Given the description of an element on the screen output the (x, y) to click on. 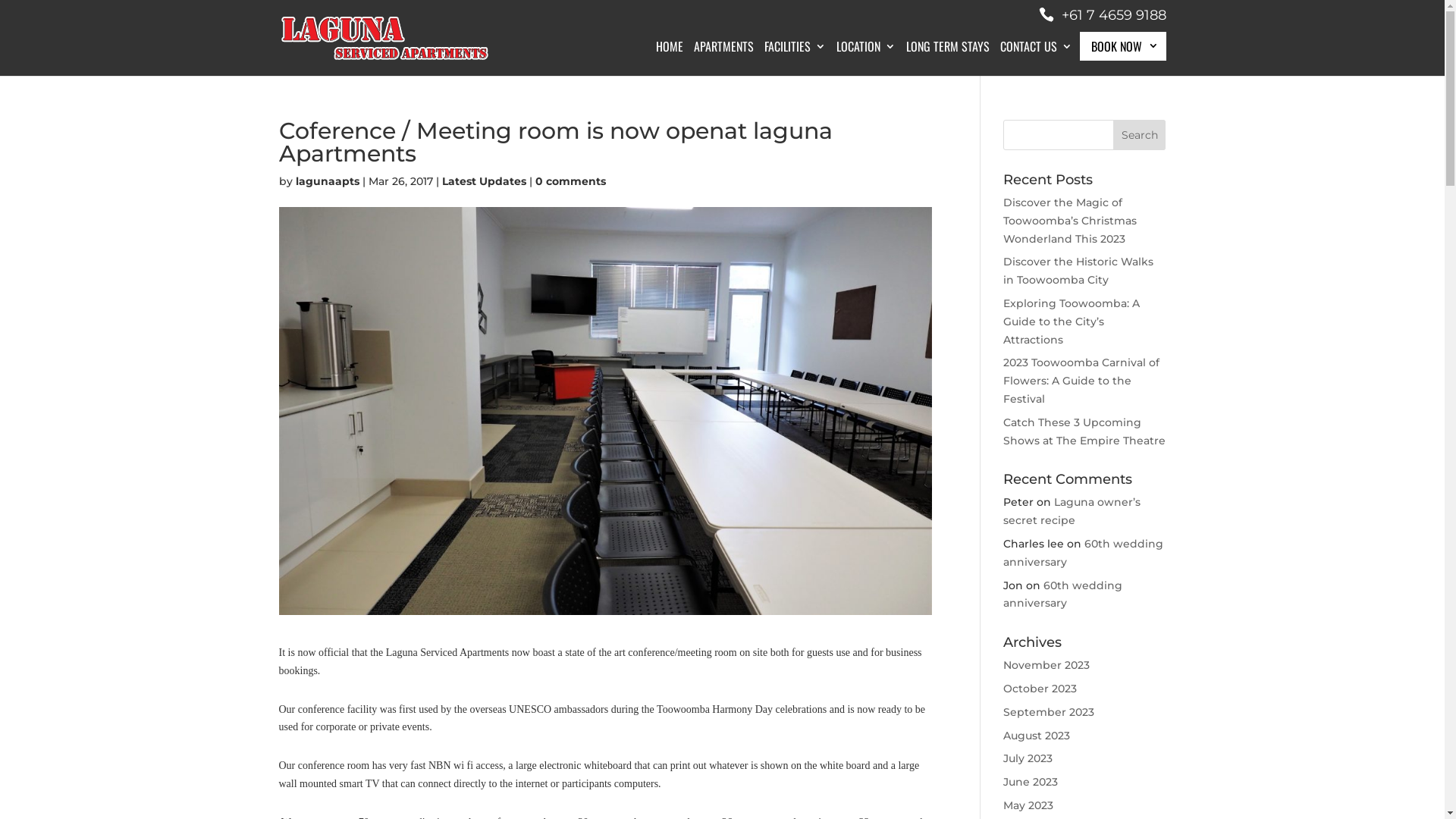
September 2023 Element type: text (1048, 711)
Latest Updates Element type: text (483, 181)
June 2023 Element type: text (1030, 781)
lagunaapts Element type: text (327, 181)
Book Now Element type: text (1110, 139)
60th wedding anniversary Element type: text (1062, 594)
Discover the Historic Walks in Toowoomba City Element type: text (1078, 270)
CONTACT US Element type: text (1035, 57)
July 2023 Element type: text (1027, 758)
Catch These 3 Upcoming Shows at The Empire Theatre Element type: text (1084, 431)
Search Element type: text (1139, 134)
APARTMENTS Element type: text (723, 57)
FACILITIES Element type: text (794, 57)
BOOK NOW Element type: text (1122, 45)
HOME Element type: text (668, 57)
0 comments Element type: text (570, 181)
LONG TERM STAYS Element type: text (946, 57)
May 2023 Element type: text (1028, 805)
October 2023 Element type: text (1039, 688)
November 2023 Element type: text (1046, 664)
60th wedding anniversary Element type: text (1083, 552)
LOCATION Element type: text (864, 57)
August 2023 Element type: text (1036, 735)
+61 7 4659 9188 Element type: text (1102, 14)
2023 Toowoomba Carnival of Flowers: A Guide to the Festival Element type: text (1081, 380)
